Given the description of an element on the screen output the (x, y) to click on. 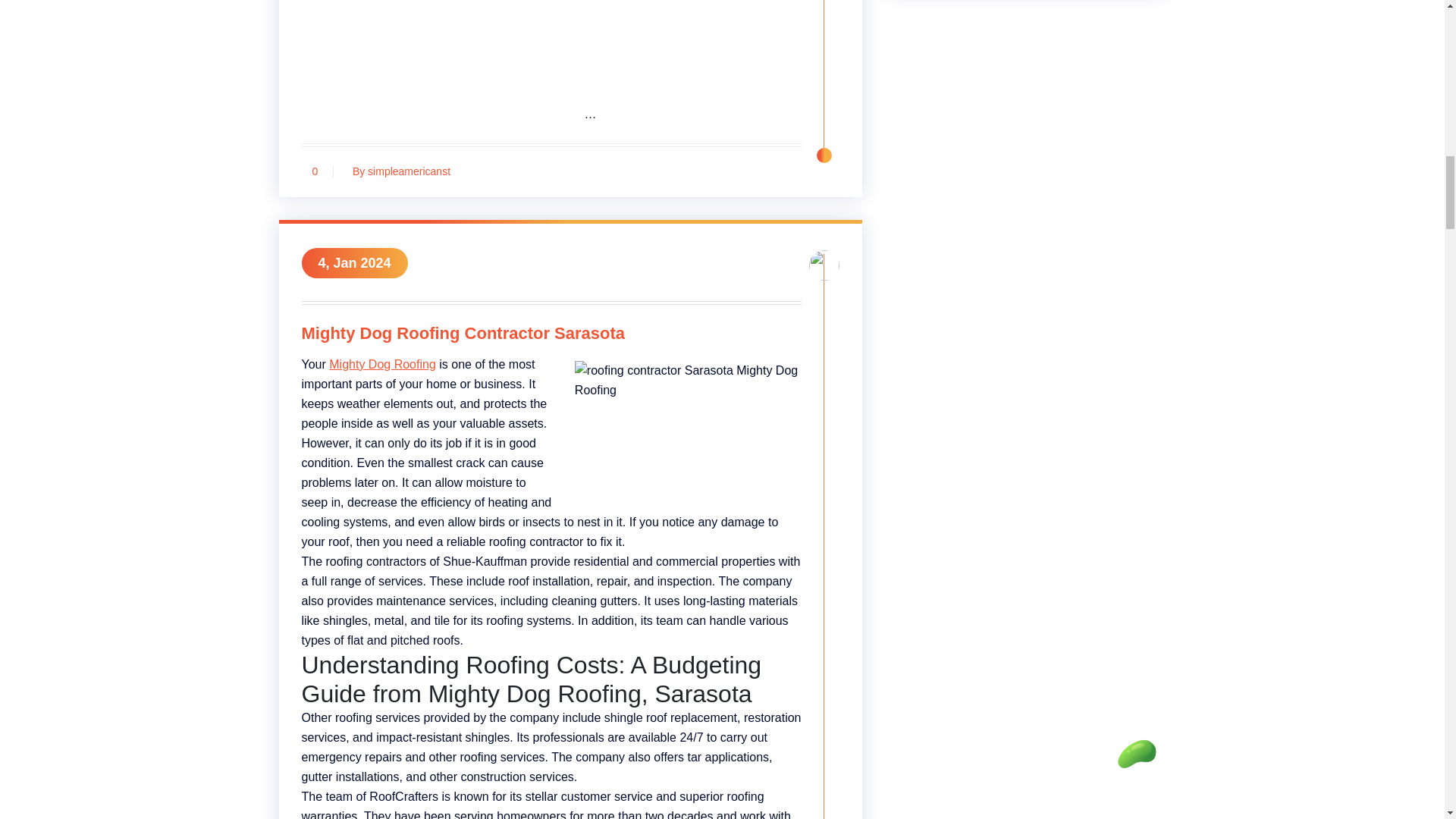
0 (315, 171)
By simpleamericanst (397, 171)
Mighty Dog Roofing (382, 364)
Mighty Dog Roofing Contractor Sarasota (551, 335)
